Given the description of an element on the screen output the (x, y) to click on. 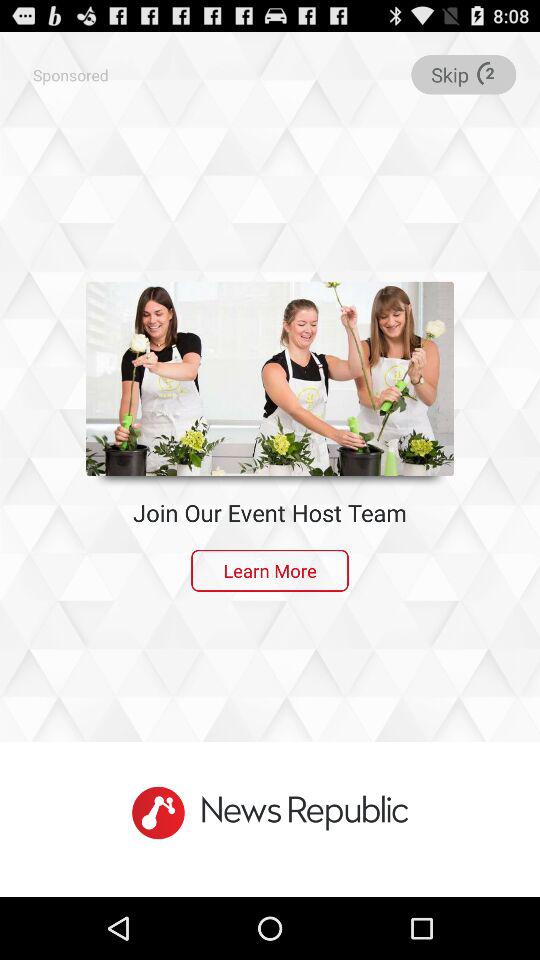
view image (269, 378)
